Given the description of an element on the screen output the (x, y) to click on. 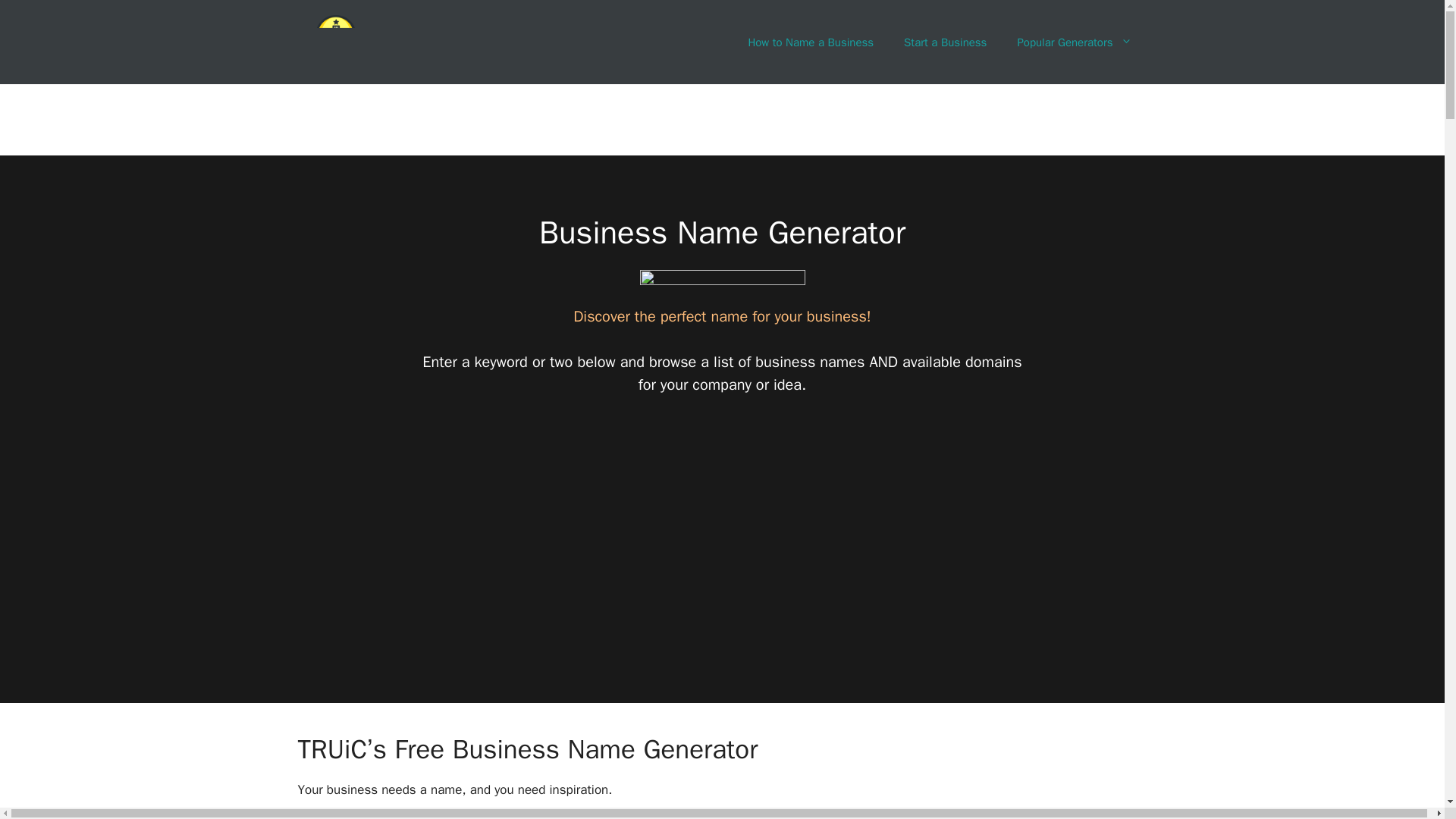
Start a Business (944, 42)
How to Name a Business (810, 42)
Popular Generators (1074, 42)
